Given the description of an element on the screen output the (x, y) to click on. 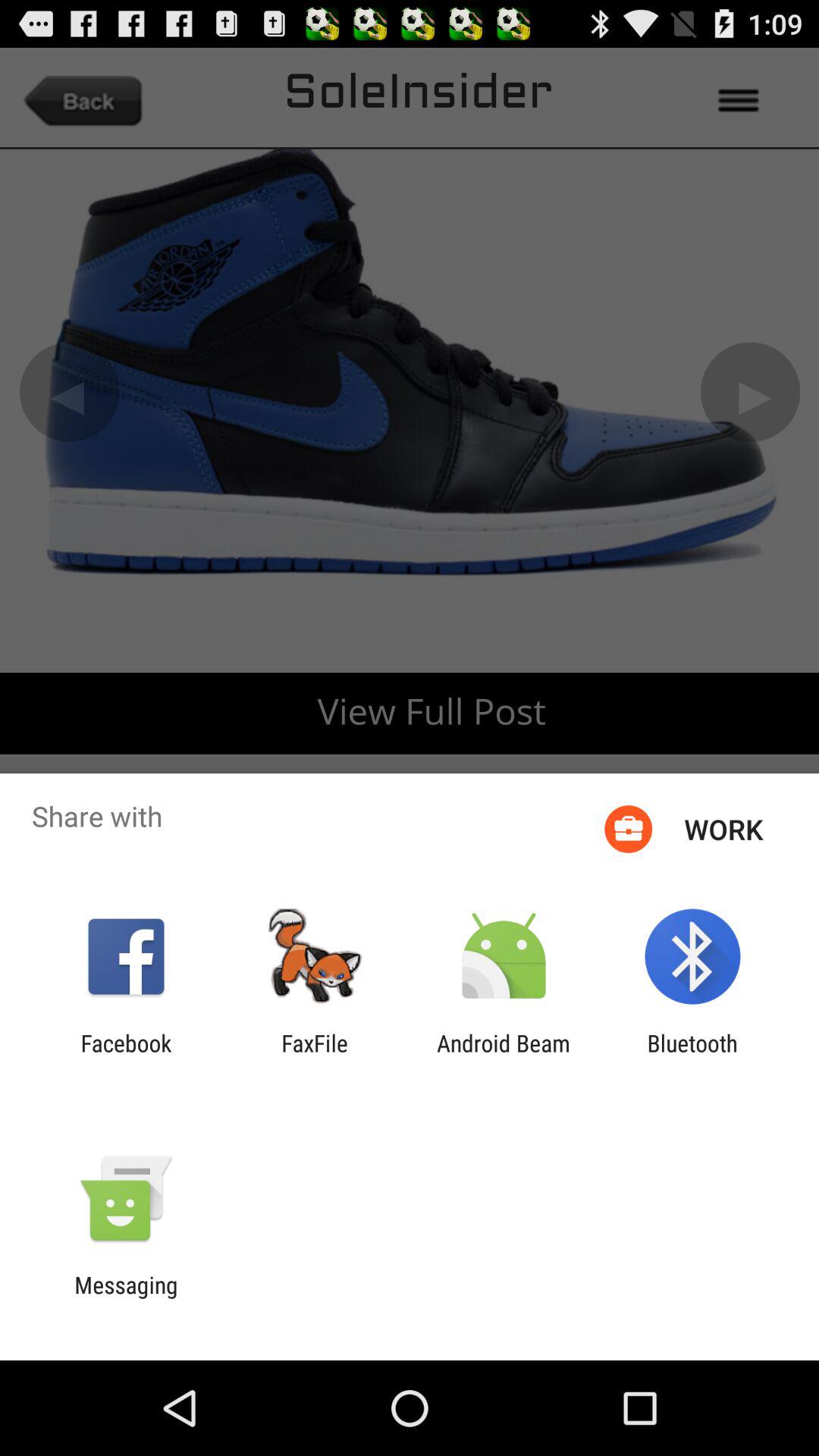
open the app next to facebook app (314, 1056)
